Given the description of an element on the screen output the (x, y) to click on. 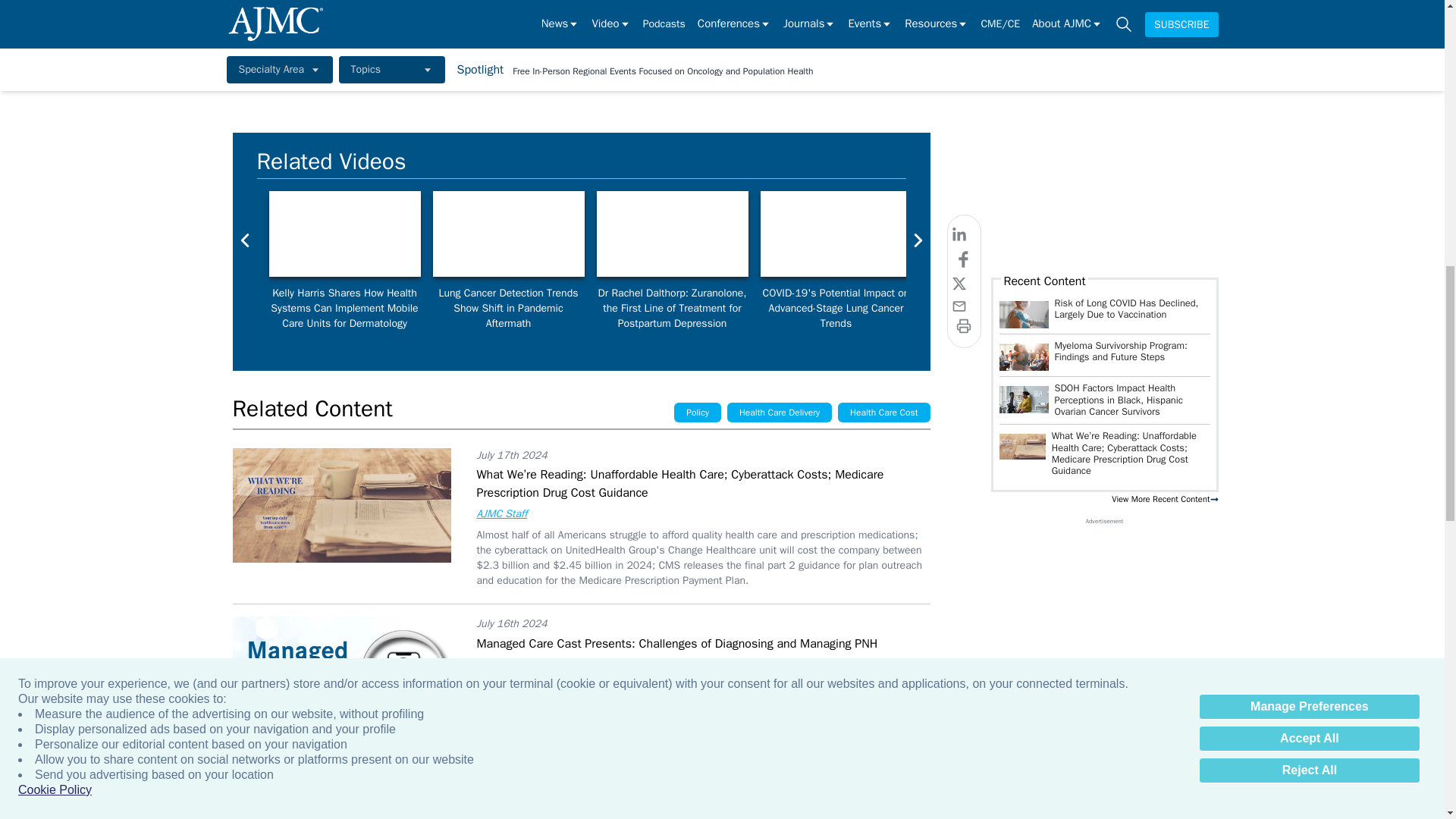
Rachel Dalthorp, MD (671, 233)
Michael Thorpy, MD (999, 233)
Kelly Harris, APRN (343, 233)
Jessica K. Paulus, ScD, Ontada (507, 233)
Jessica K. Paulus, ScD, Ontada (835, 233)
Sindhuja Kadambi, MD, MS (1163, 233)
Matthew Callister, MD (1326, 233)
